Given the description of an element on the screen output the (x, y) to click on. 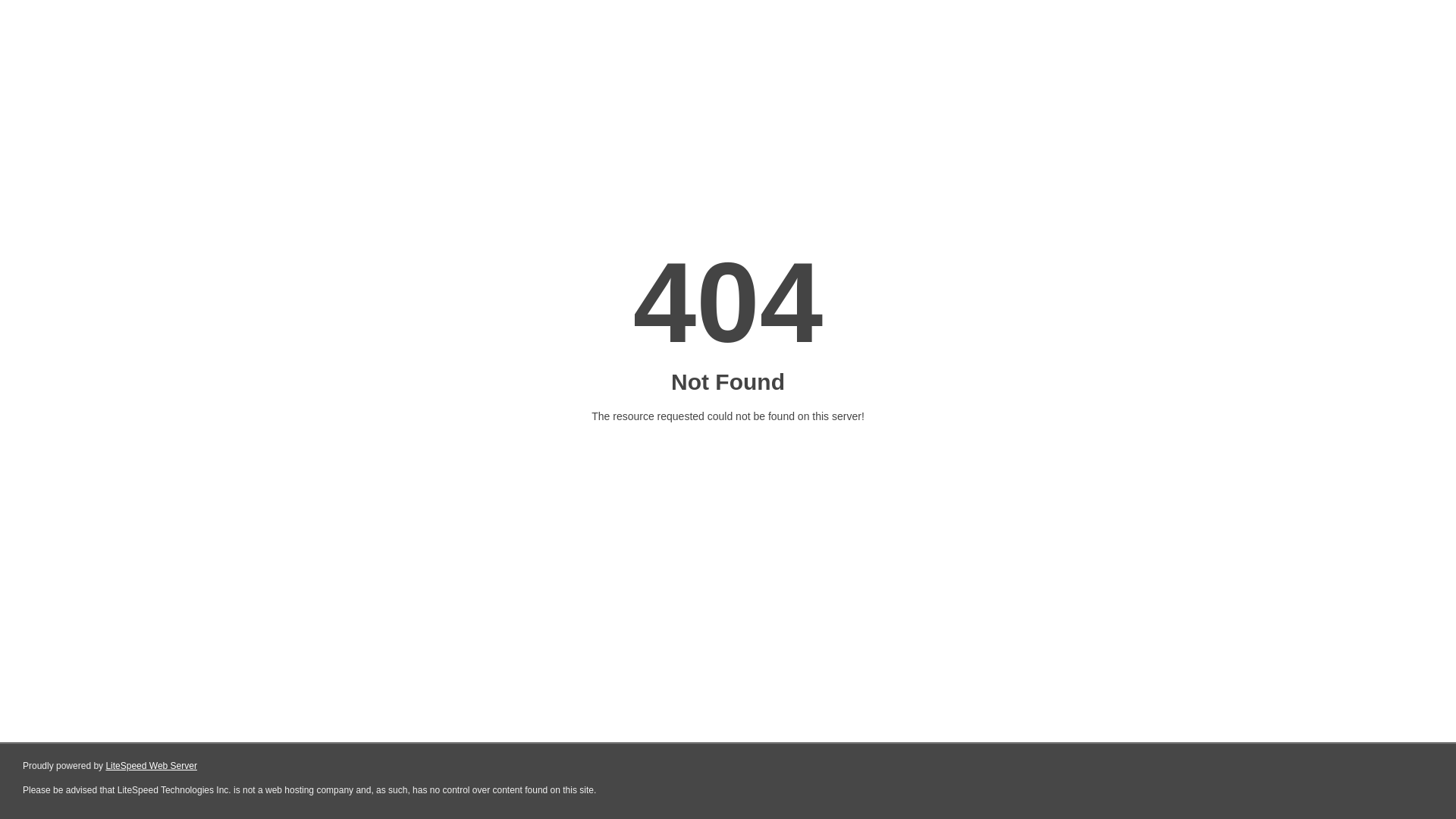
LiteSpeed Web Server Element type: text (151, 765)
